Given the description of an element on the screen output the (x, y) to click on. 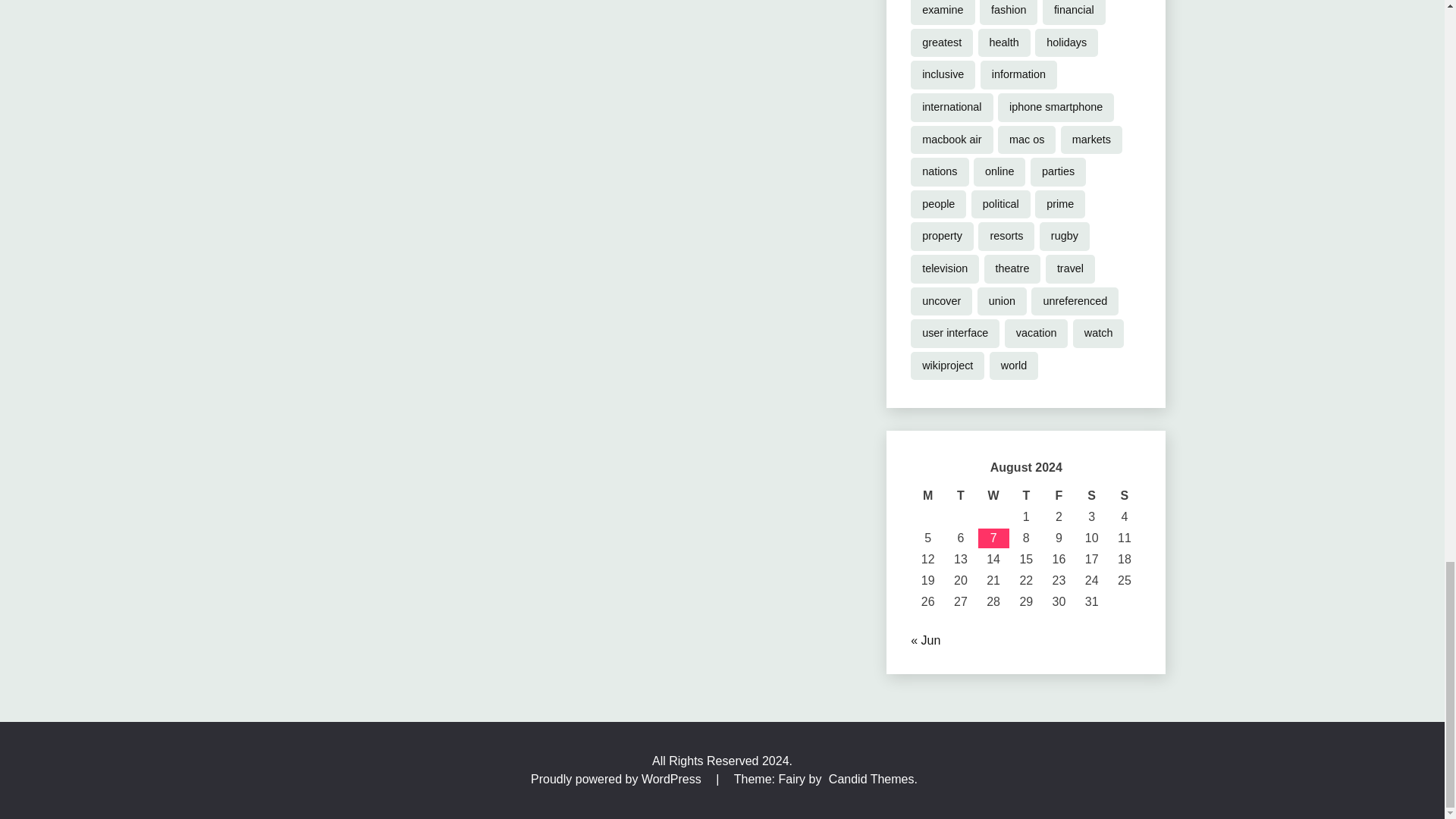
Saturday (1090, 496)
Friday (1058, 496)
Wednesday (993, 496)
Monday (927, 496)
Sunday (1124, 496)
Tuesday (959, 496)
Thursday (1026, 496)
